Given the description of an element on the screen output the (x, y) to click on. 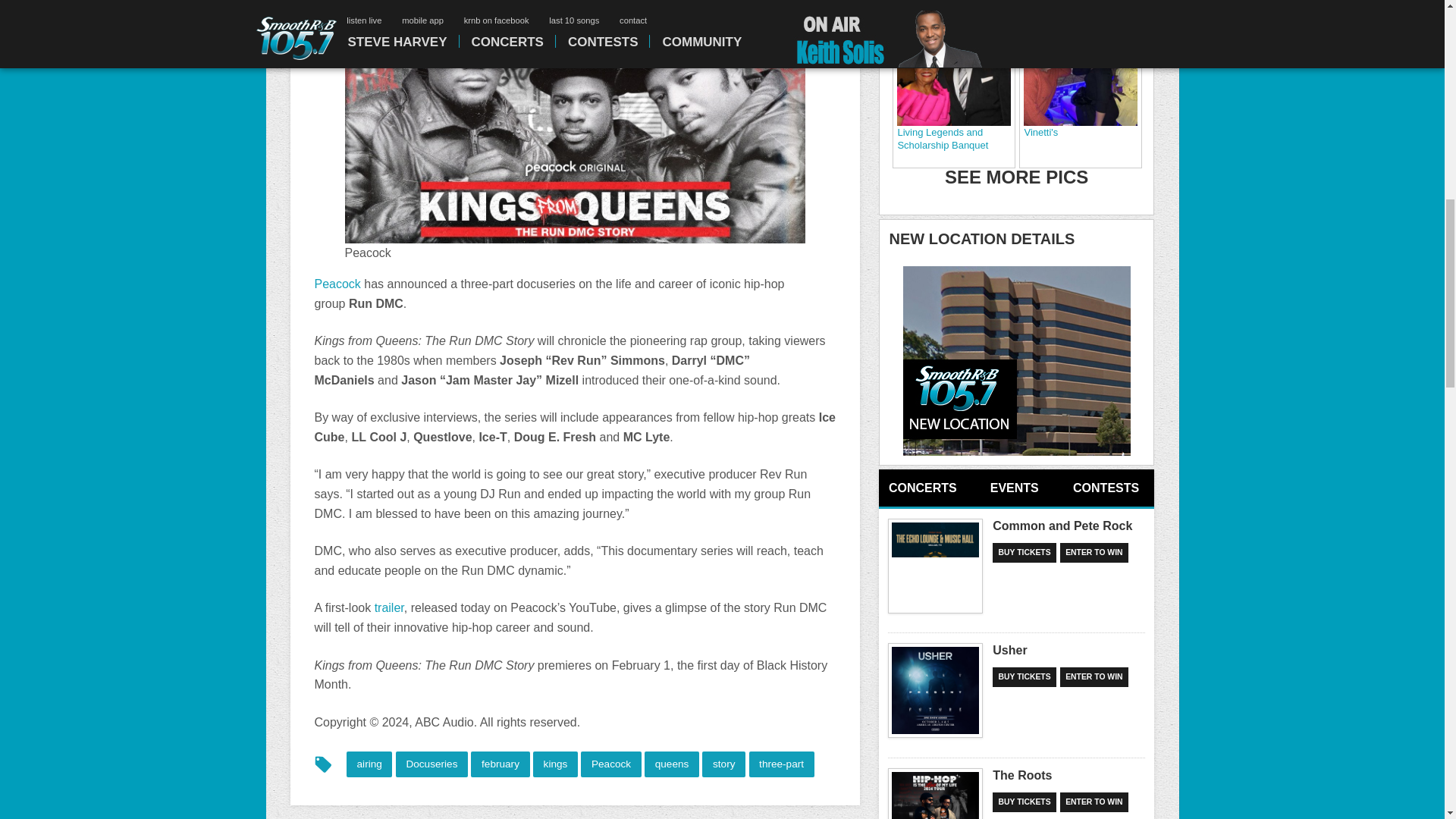
queens (671, 764)
Common and Pete Rock (935, 565)
kings (555, 764)
story (723, 764)
The Roots (935, 793)
three-part (781, 764)
february (499, 764)
Docuseries (431, 764)
Peacock (336, 283)
airing (368, 764)
